Given the description of an element on the screen output the (x, y) to click on. 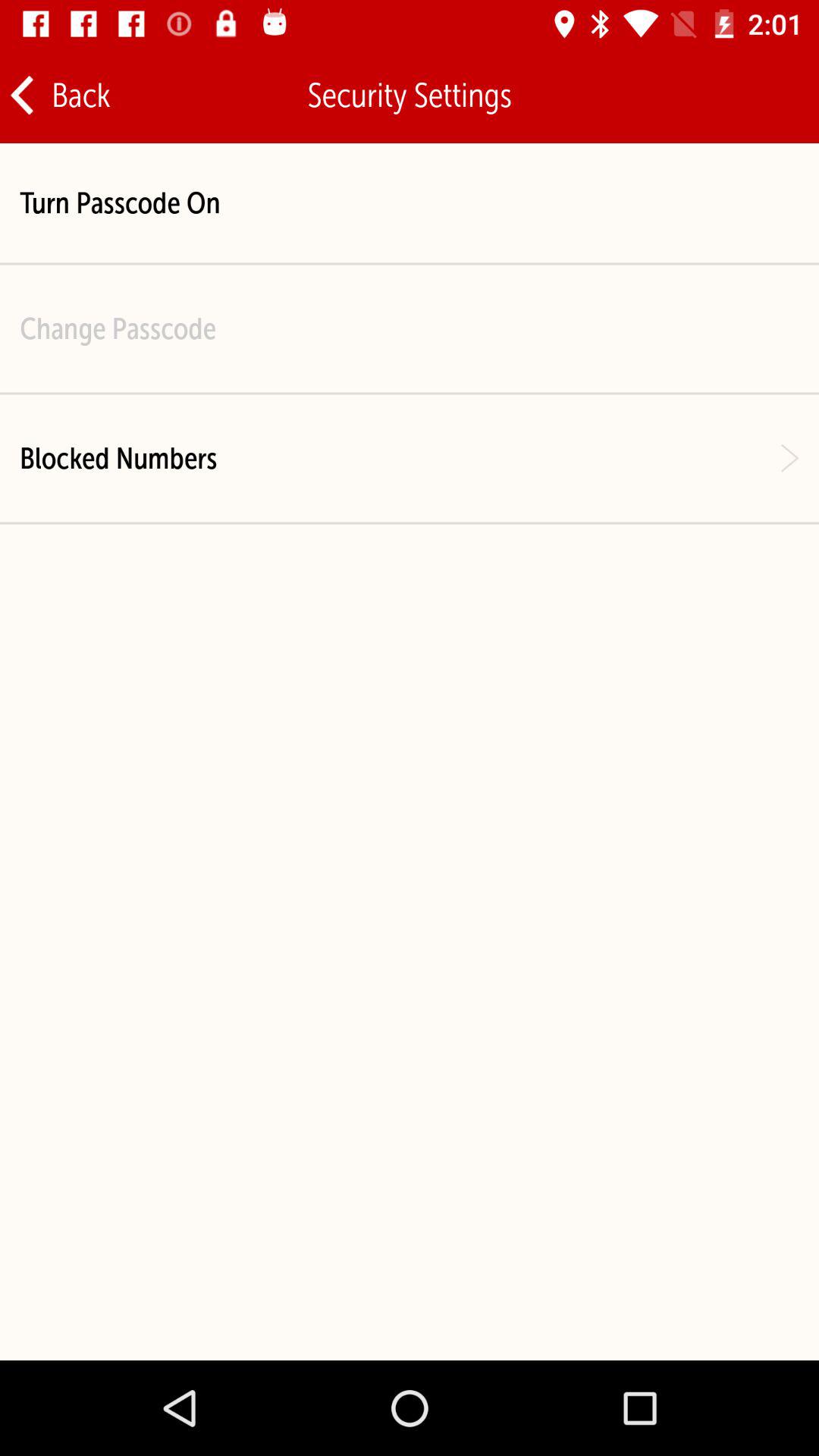
open item below the back item (119, 202)
